Given the description of an element on the screen output the (x, y) to click on. 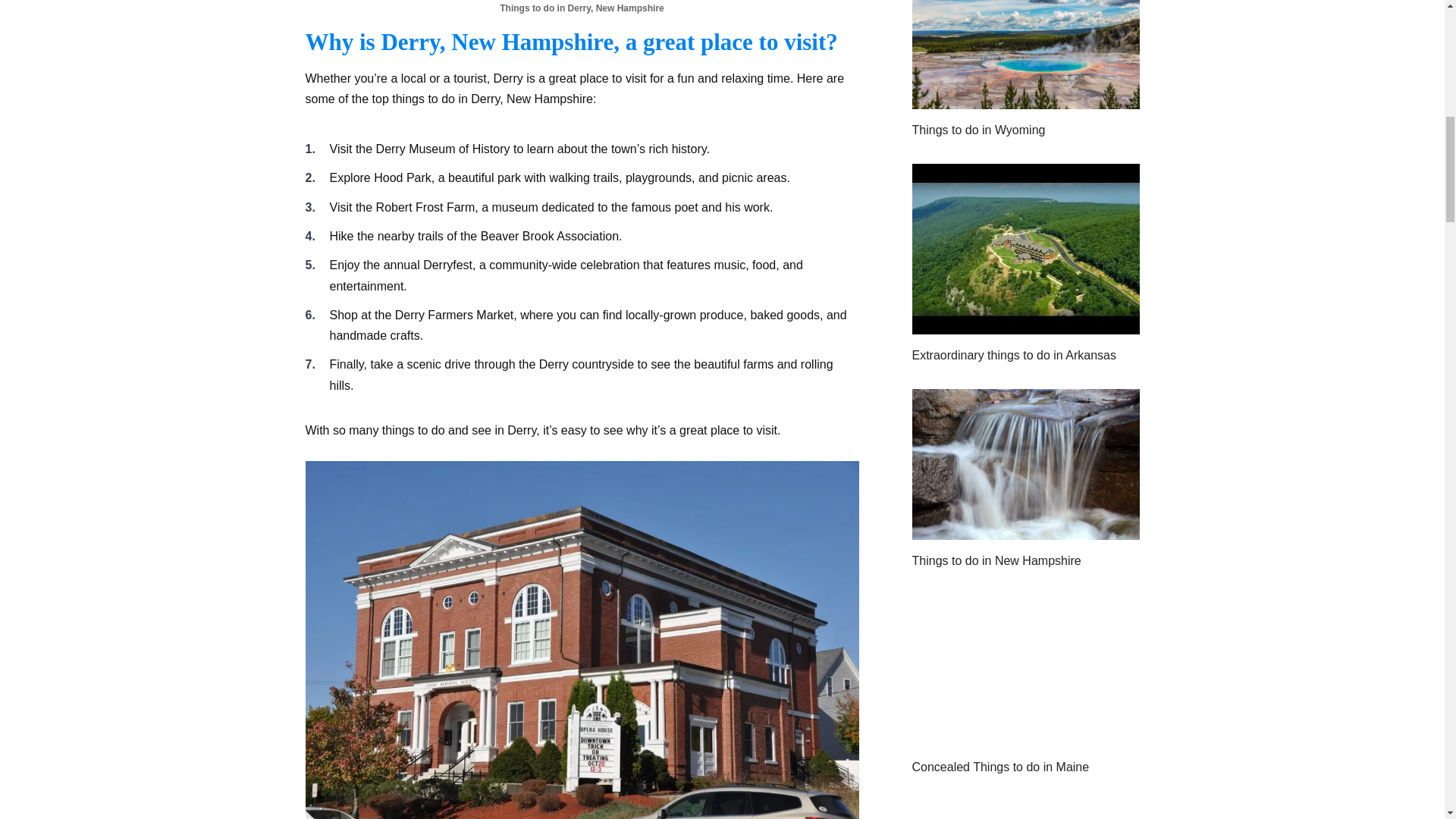
Productive things to do in Louisiana 20 (1024, 809)
Things to do in New Hampshire (1024, 530)
Things to do in New Hampshire 18 (1024, 464)
Extraordinary things to do in Arkansas (1024, 324)
Concealed Things to do in Maine 19 (1024, 670)
Things to do in Wyoming 16 (1024, 54)
Extraordinary things to do in Arkansas 17 (1024, 248)
Concealed Things to do in Maine (1024, 736)
Things to do in Wyoming (1024, 99)
